Given the description of an element on the screen output the (x, y) to click on. 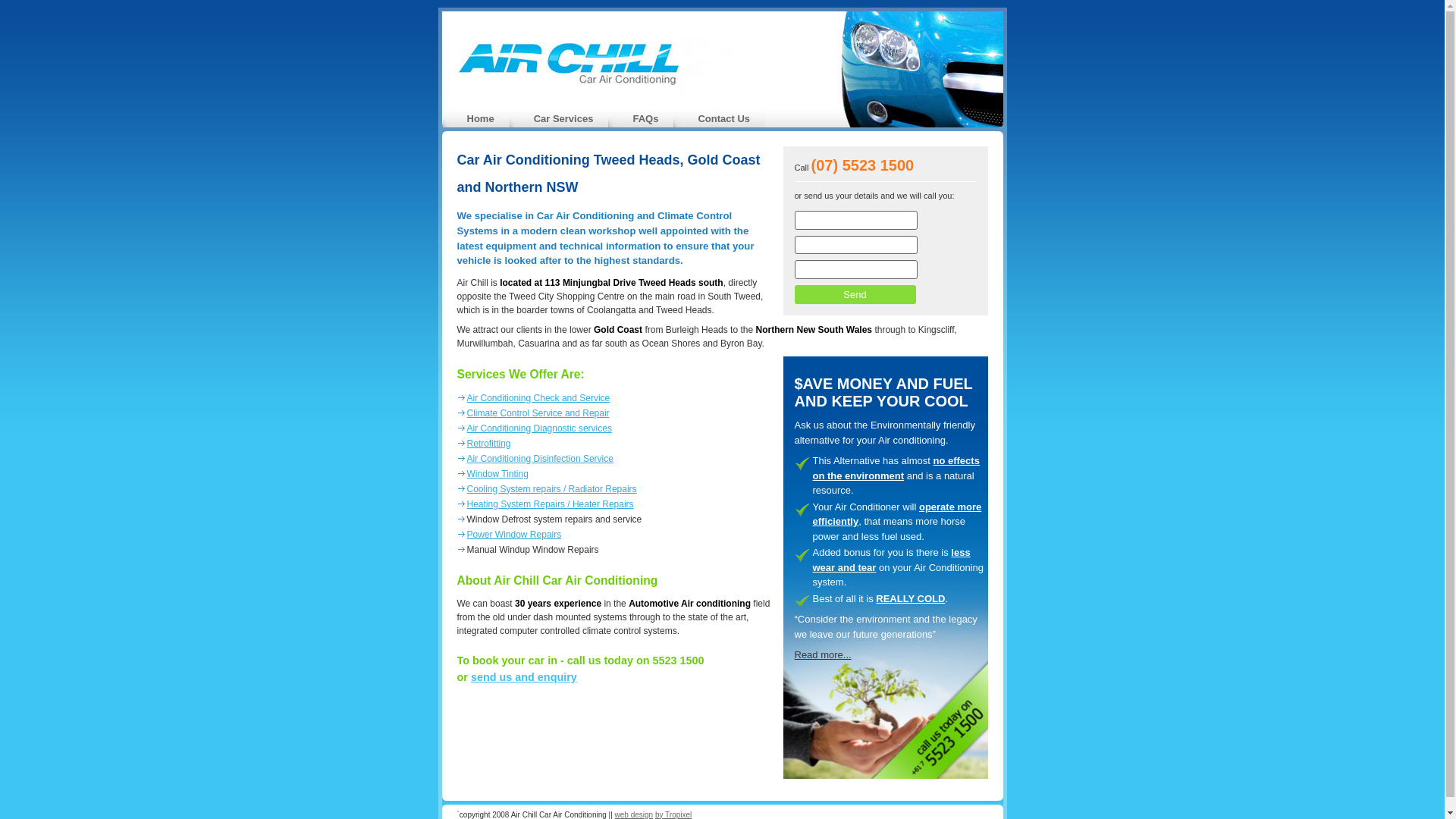
Air Conditioning Check and Service Element type: text (538, 397)
Phone Element type: hover (855, 244)
Climate Control Service and Repair Element type: text (538, 412)
Retrofitting Element type: text (489, 443)
Email Element type: hover (855, 269)
Read more... Element type: text (822, 654)
Car Services Element type: text (563, 118)
Home Element type: text (480, 118)
Window Tinting Element type: text (497, 473)
Cooling System repairs / Radiator Repairs Element type: text (552, 488)
Air Conditioning Diagnostic services Element type: text (539, 428)
send us and enquiry Element type: text (523, 677)
Contact Us Element type: text (723, 118)
Heating System Repairs / Heater Repairs Element type: text (550, 503)
Name Element type: hover (855, 219)
Send Element type: text (855, 294)
Air Conditioning Disinfection Service Element type: text (540, 458)
FAQs Element type: text (645, 118)
Power Window Repairs Element type: text (514, 534)
